Given the description of an element on the screen output the (x, y) to click on. 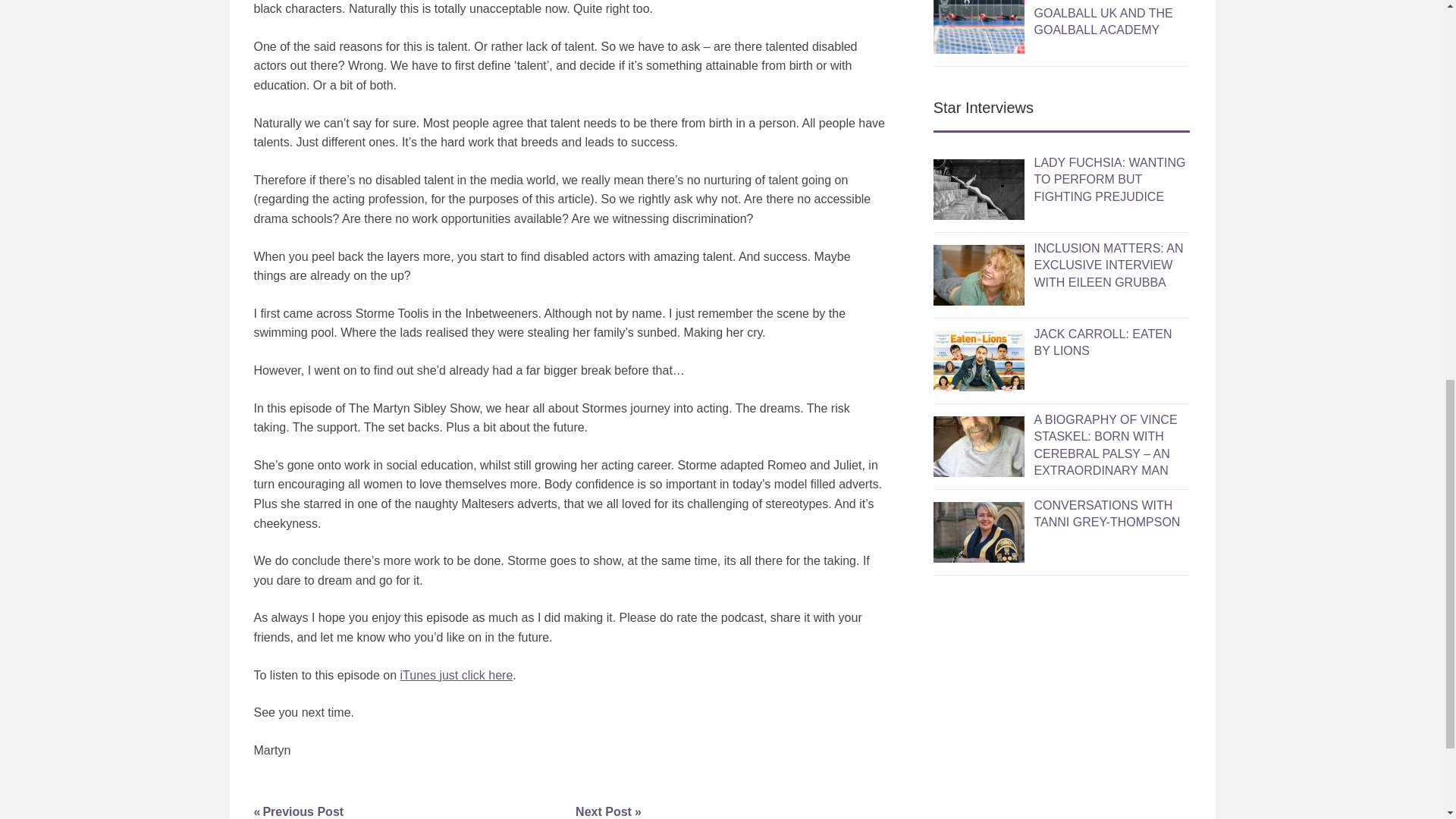
JACK CARROLL: EATEN BY LIONS (1102, 342)
VICTA: INTRODUCTION TO GOALBALL UK AND THE GOALBALL ACADEMY (1110, 18)
iTunes just click here (456, 675)
LADY FUCHSIA: WANTING TO PERFORM BUT FIGHTING PREJUDICE (1109, 179)
LADY FUCHSIA: WANTING TO PERFORM BUT FIGHTING PREJUDICE (1109, 179)
CONVERSATIONS WITH TANNI GREY-THOMPSON (1106, 513)
VICTA: INTRODUCTION TO GOALBALL UK AND THE GOALBALL ACADEMY (345, 810)
JACK CARROLL: EATEN BY LIONS (1110, 18)
